Given the description of an element on the screen output the (x, y) to click on. 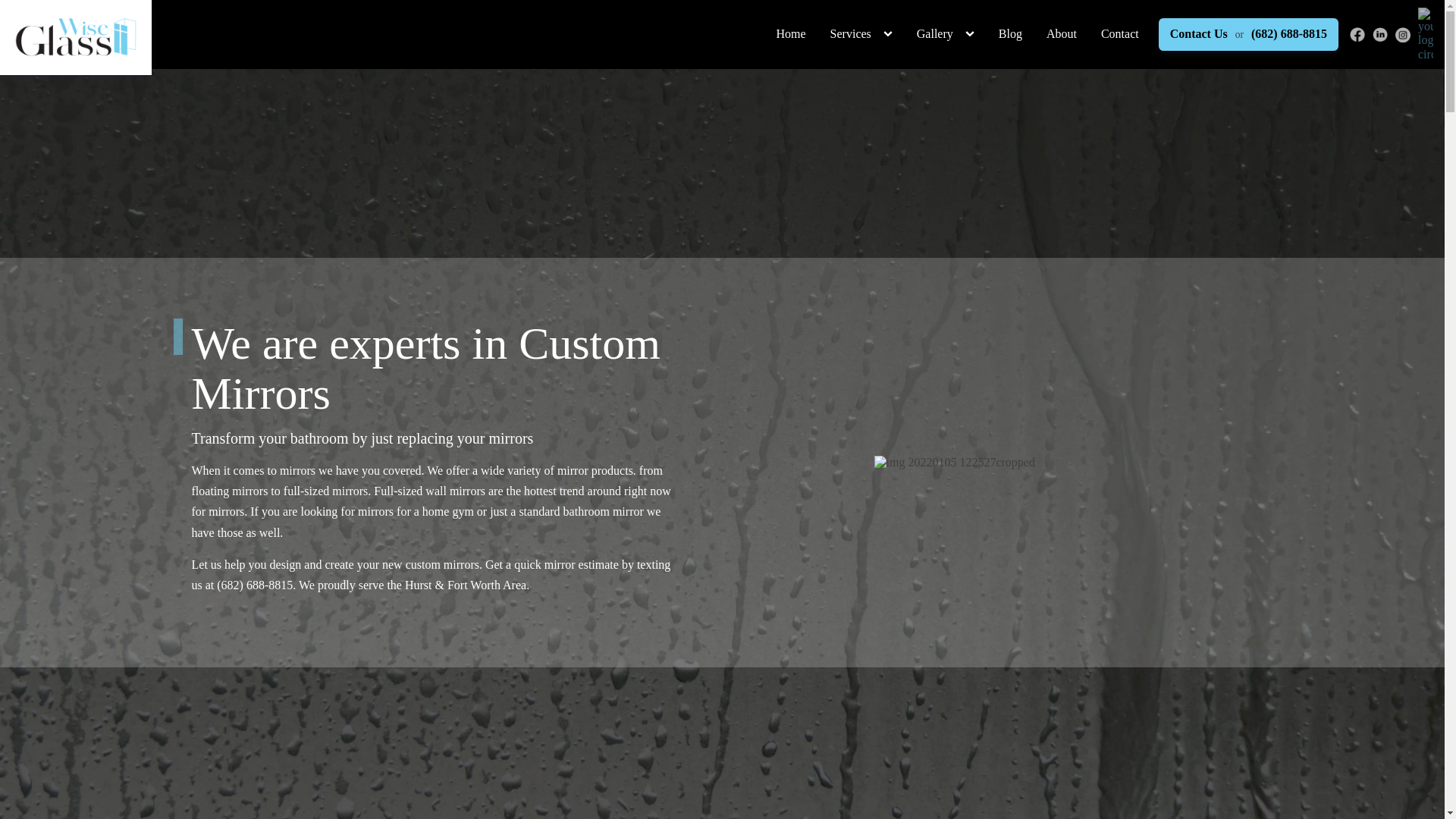
Contact (1120, 34)
Contact Us (1197, 33)
Blog (1010, 34)
Services (850, 34)
Gallery (934, 34)
About (1061, 34)
Home (791, 34)
Skip to Content (709, 28)
